Given the description of an element on the screen output the (x, y) to click on. 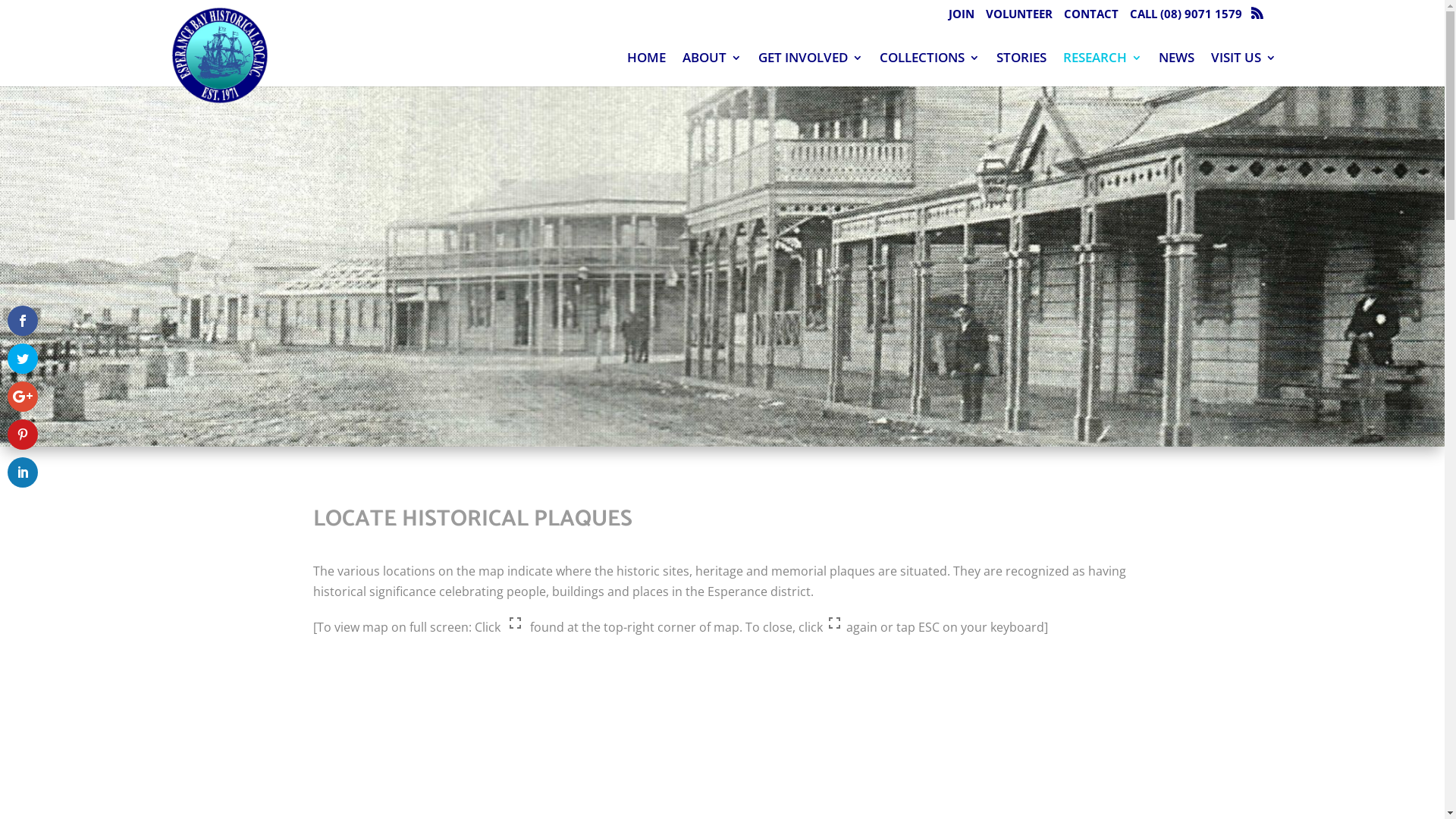
RESEARCH Element type: text (1102, 68)
VOLUNTEER Element type: text (1018, 18)
HOME Element type: text (645, 68)
VISIT US Element type: text (1242, 68)
JOIN Element type: text (960, 18)
1898 Edward St (Later the Esplanade) Element type: hover (722, 265)
COLLECTIONS Element type: text (929, 68)
CALL (08) 9071 1579 Element type: text (1185, 18)
STORIES Element type: text (1021, 68)
ABOUT Element type: text (711, 68)
NEWS Element type: text (1176, 68)
CONTACT Element type: text (1090, 18)
GET INVOLVED Element type: text (810, 68)
